Given the description of an element on the screen output the (x, y) to click on. 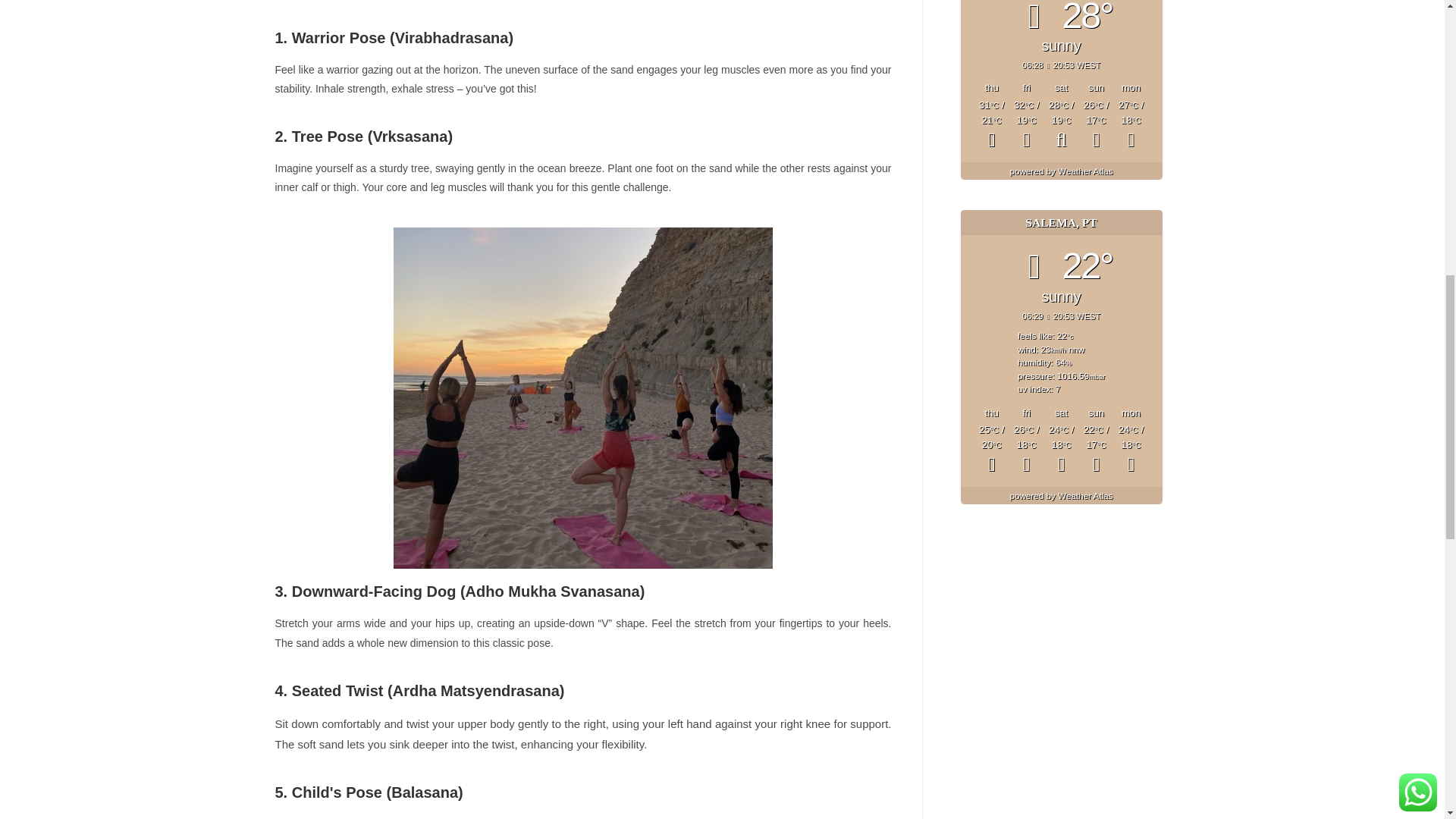
Treespose Yoga (583, 397)
